Given the description of an element on the screen output the (x, y) to click on. 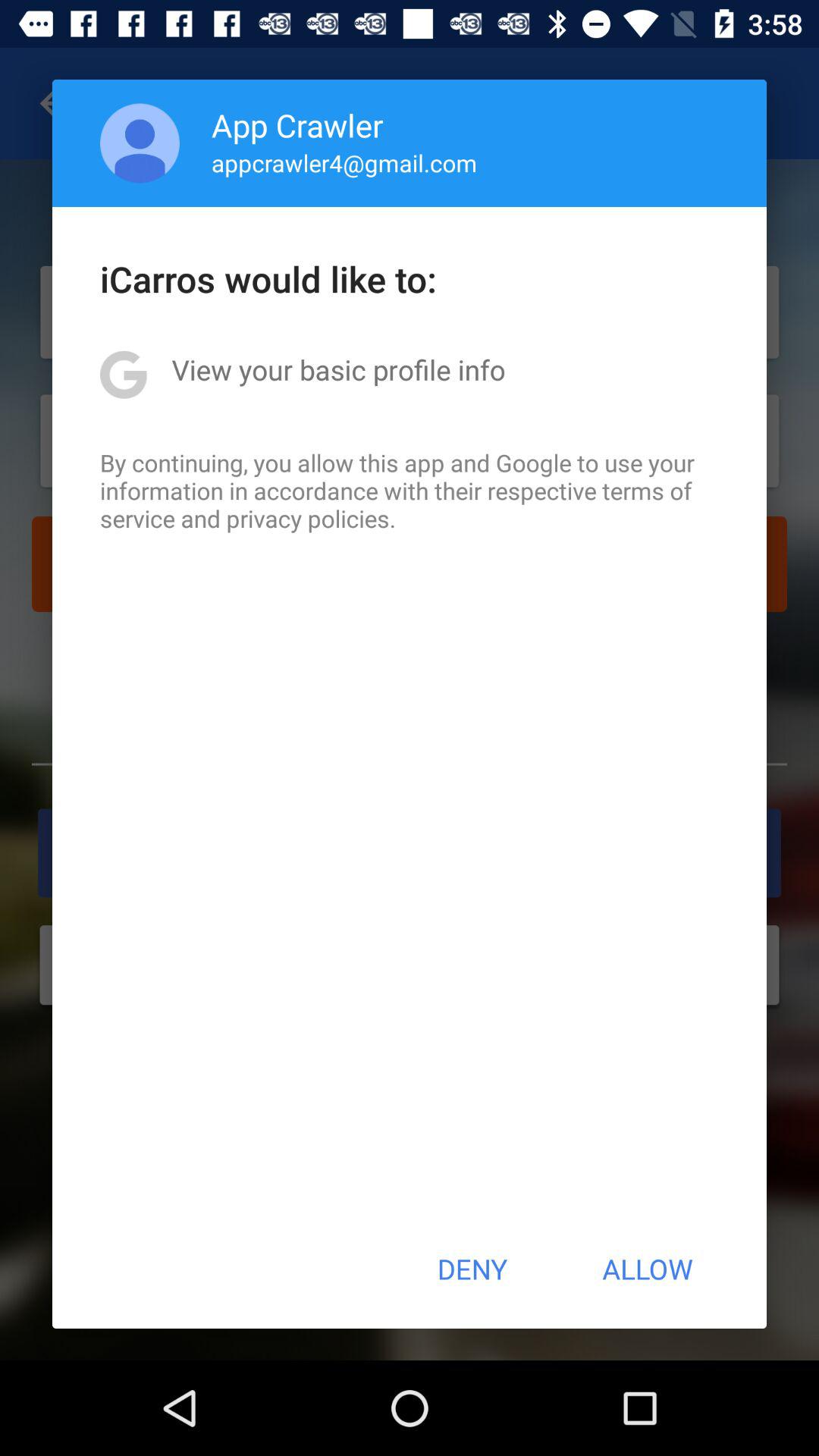
select the app crawler item (297, 124)
